Given the description of an element on the screen output the (x, y) to click on. 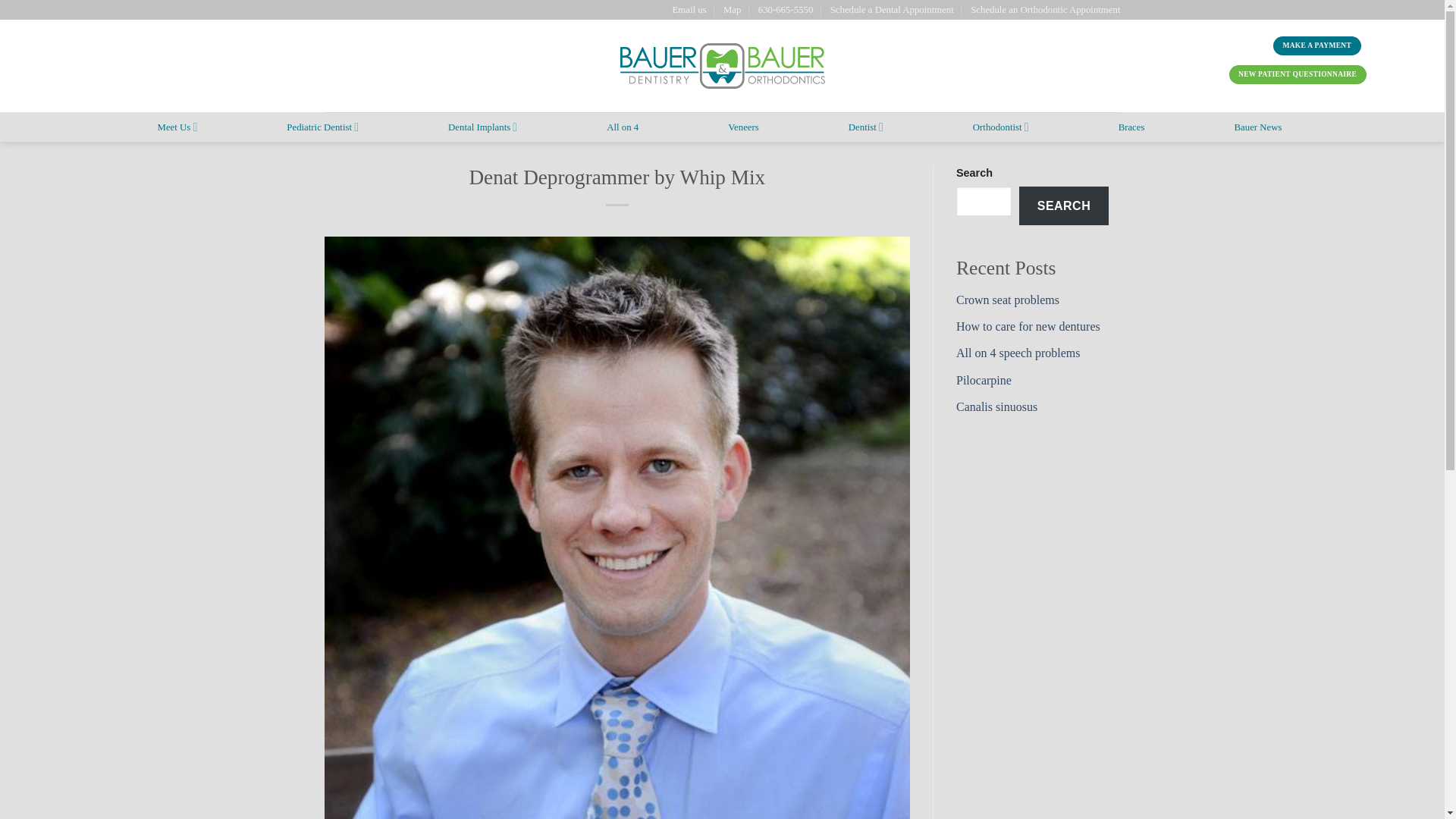
Meet Us (177, 126)
Dentist (865, 126)
MAKE A PAYMENT (1316, 45)
630-665-5550 (785, 9)
Veneers (743, 126)
Schedule an Orthodontic Appointment (1045, 9)
Schedule a Dental Appointment (891, 9)
All on 4 (623, 126)
Dental Implants (482, 126)
Pediatric Dentist (322, 126)
